Given the description of an element on the screen output the (x, y) to click on. 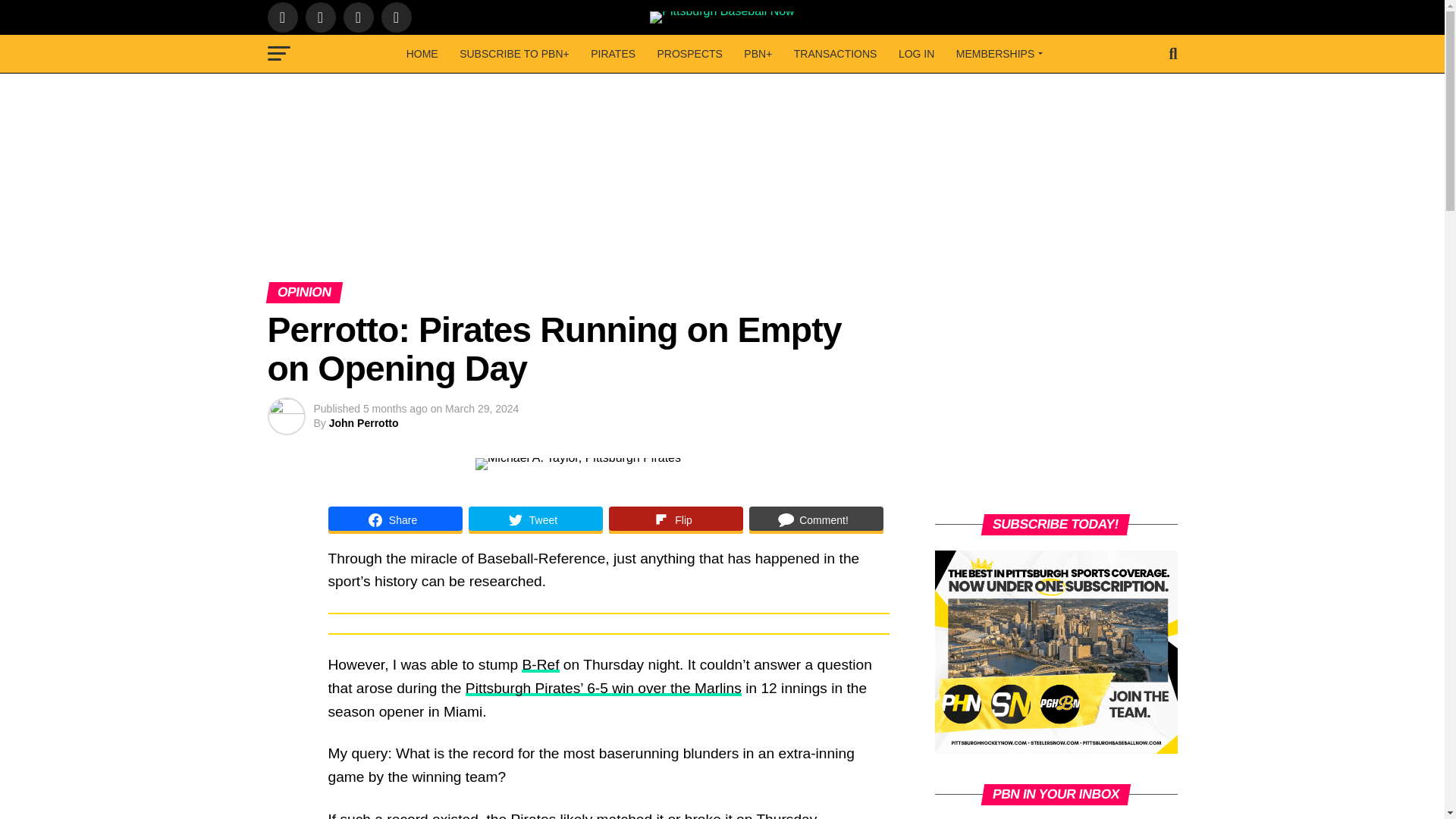
HOME (421, 53)
Share on Flip (675, 519)
Share on Share (394, 519)
Share on Tweet (535, 519)
Share on Comment! (816, 519)
Posts by John Perrotto (363, 422)
PIRATES (612, 53)
